Given the description of an element on the screen output the (x, y) to click on. 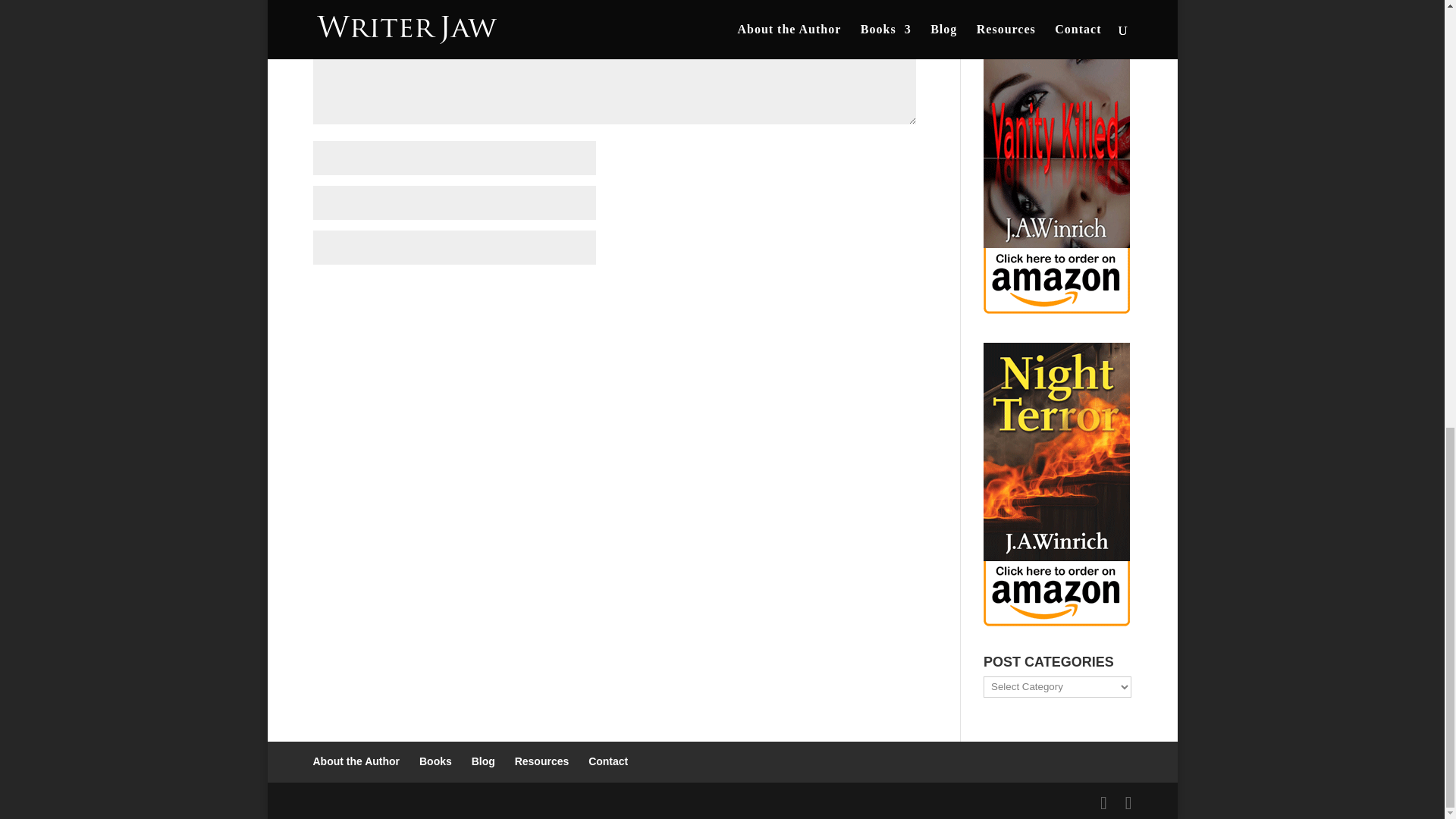
Submit Comment (840, 293)
Submit Comment (840, 293)
About the Author (355, 761)
Books (435, 761)
Blog (483, 761)
Resources (542, 761)
Contact (607, 761)
